Given the description of an element on the screen output the (x, y) to click on. 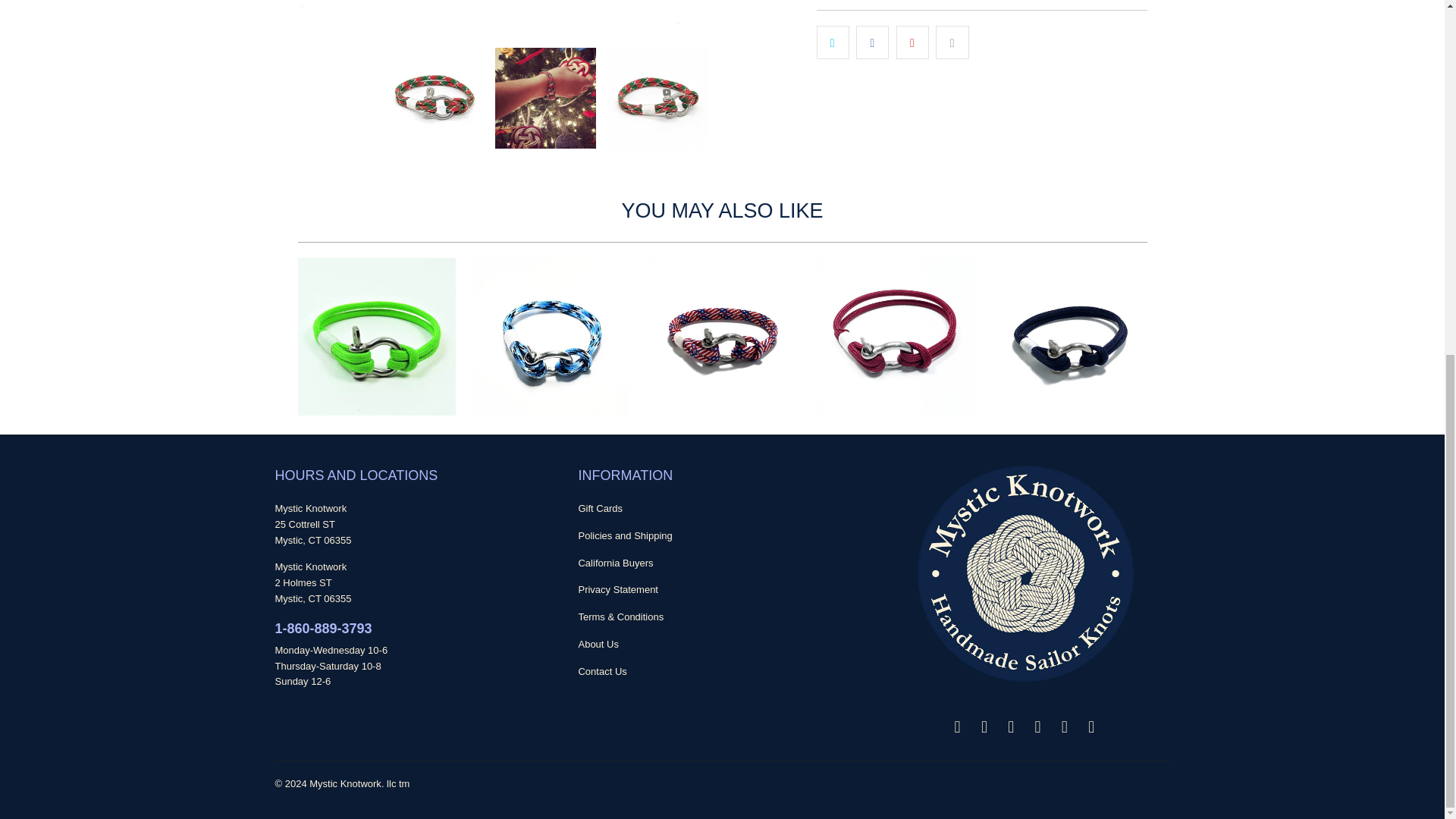
Share this on Pinterest (912, 41)
Email this to a friend (952, 41)
Mystic Knotwork on YouTube (1091, 727)
Email Mystic Knotwork (957, 727)
Mystic Knotwork on Twitter (1065, 727)
Share this on Twitter (831, 41)
Mystic Knotwork on Pinterest (1037, 727)
Share this on Facebook (872, 41)
Mystic Knotwork on Instagram (1011, 727)
Mystic Knotwork on Facebook (984, 727)
